Given the description of an element on the screen output the (x, y) to click on. 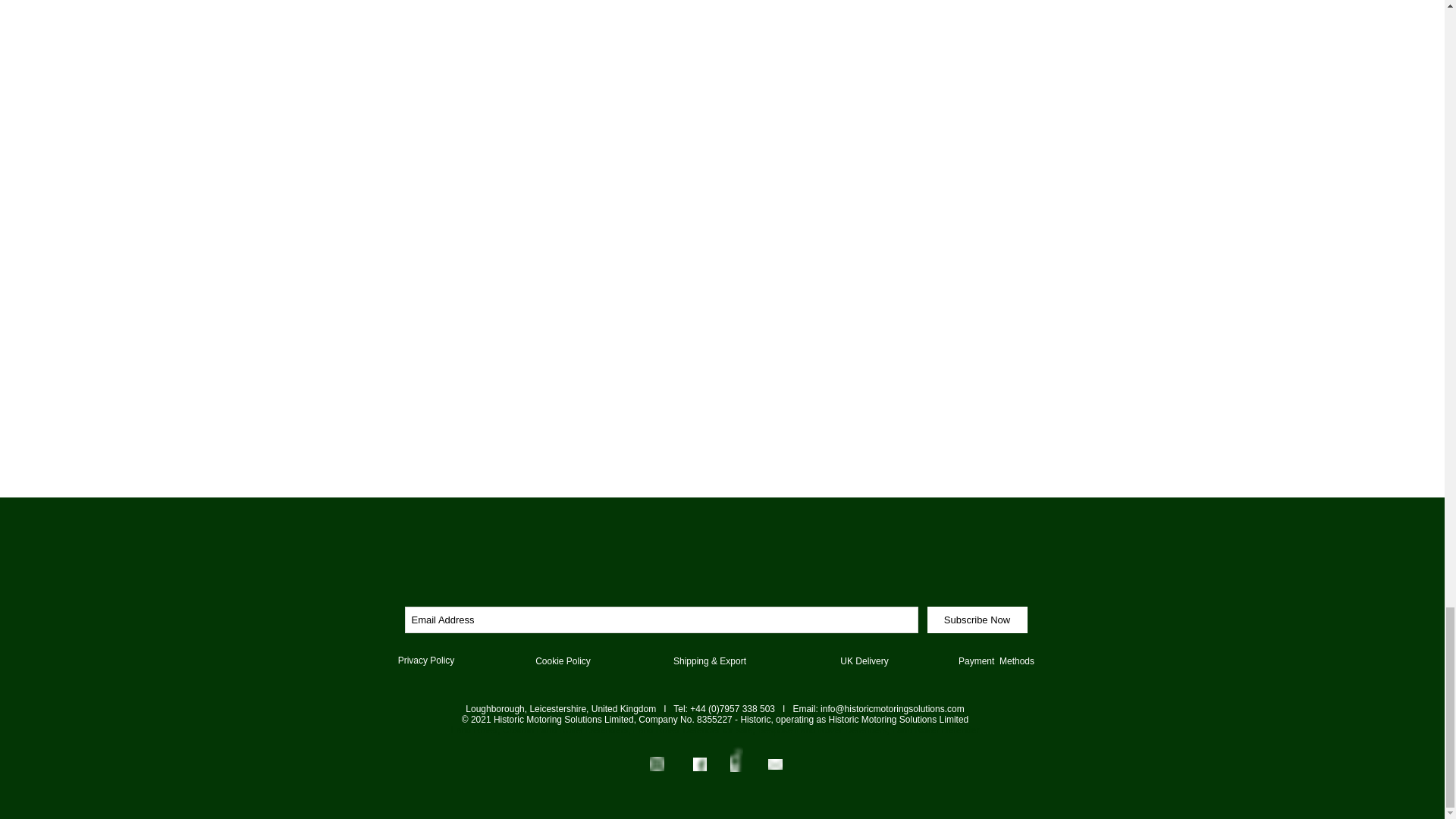
VISIT US ON INSTAGRAM (656, 763)
VISIT US ON FACEBOOK (699, 763)
Cookie Policy (563, 661)
Payment  Methods (995, 661)
CLICK HERE TO CALL US (735, 758)
Subscribe Now (976, 619)
UK Delivery (864, 661)
Privacy Policy (425, 660)
CLICK HERE TO CONTACT US (774, 763)
